Given the description of an element on the screen output the (x, y) to click on. 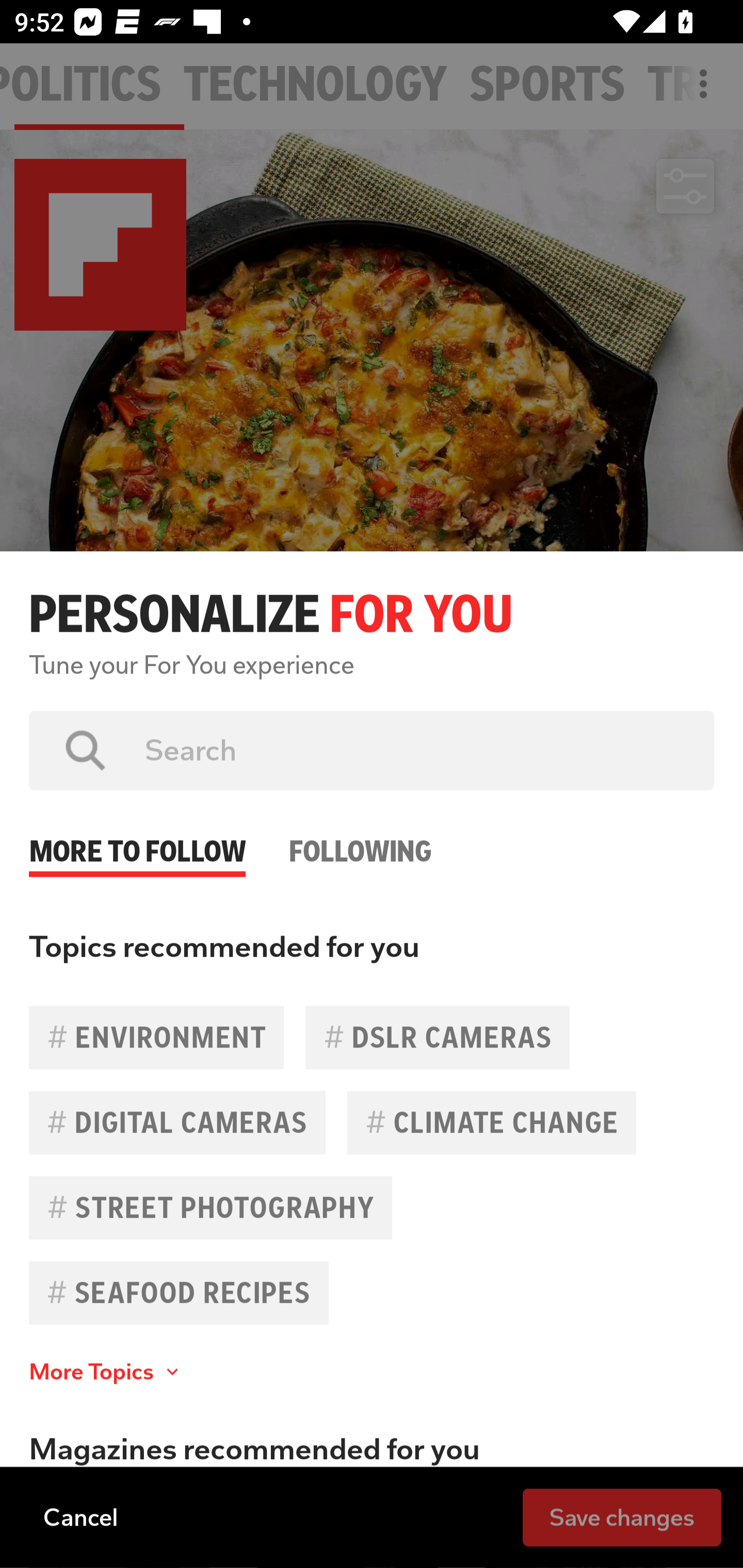
Search (414, 750)
Following FOLLOWING (360, 833)
# ENVIRONMENT (155, 1037)
# DSLR CAMERAS (437, 1037)
# DIGITAL CAMERAS (176, 1122)
# CLIMATE CHANGE (491, 1122)
# STREET PHOTOGRAPHY (210, 1207)
# SEAFOOD RECIPES (178, 1292)
More Topics (105, 1371)
Cancel (80, 1516)
Save changes (621, 1517)
